Given the description of an element on the screen output the (x, y) to click on. 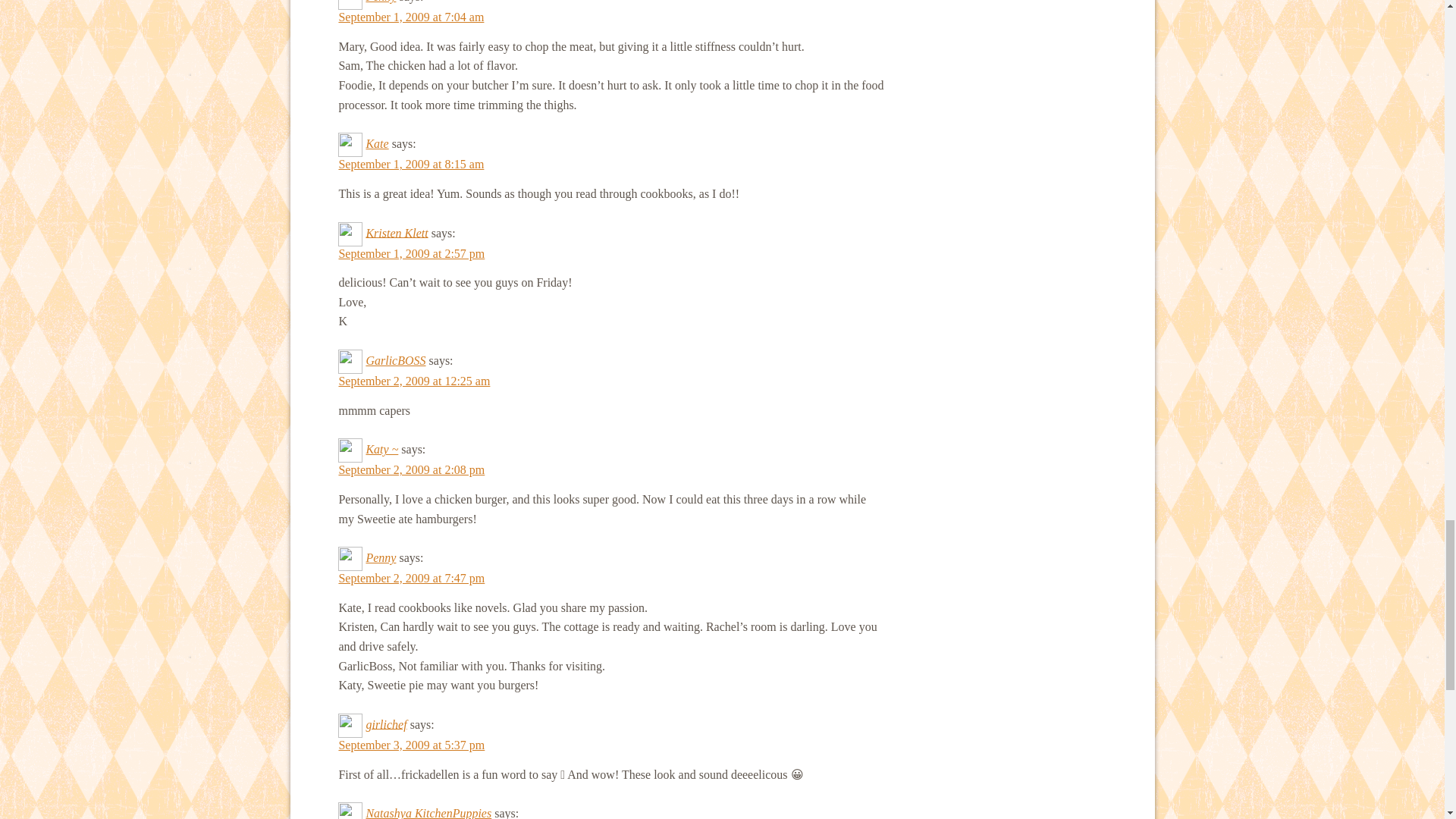
September 3, 2009 at 5:37 pm (410, 744)
Kate (376, 143)
girlichef (385, 723)
Penny (380, 1)
September 2, 2009 at 2:08 pm (410, 469)
Kristen Klett (396, 232)
September 1, 2009 at 8:15 am (410, 164)
Penny (380, 557)
September 2, 2009 at 7:47 pm (410, 577)
GarlicBOSS (395, 359)
September 1, 2009 at 7:04 am (410, 16)
September 1, 2009 at 2:57 pm (410, 253)
September 2, 2009 at 12:25 am (413, 380)
